Given the description of an element on the screen output the (x, y) to click on. 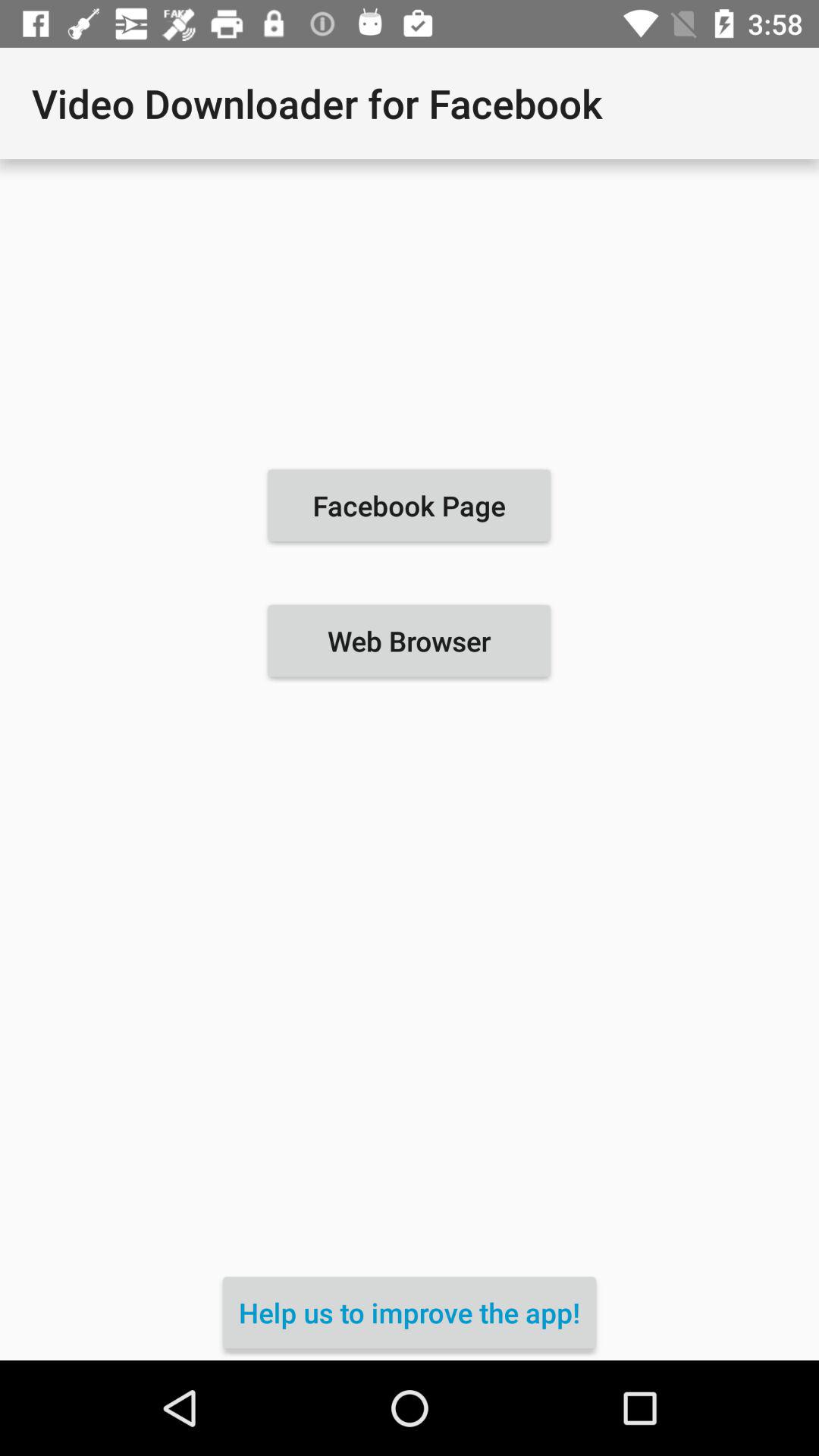
swipe to the facebook page icon (408, 505)
